Given the description of an element on the screen output the (x, y) to click on. 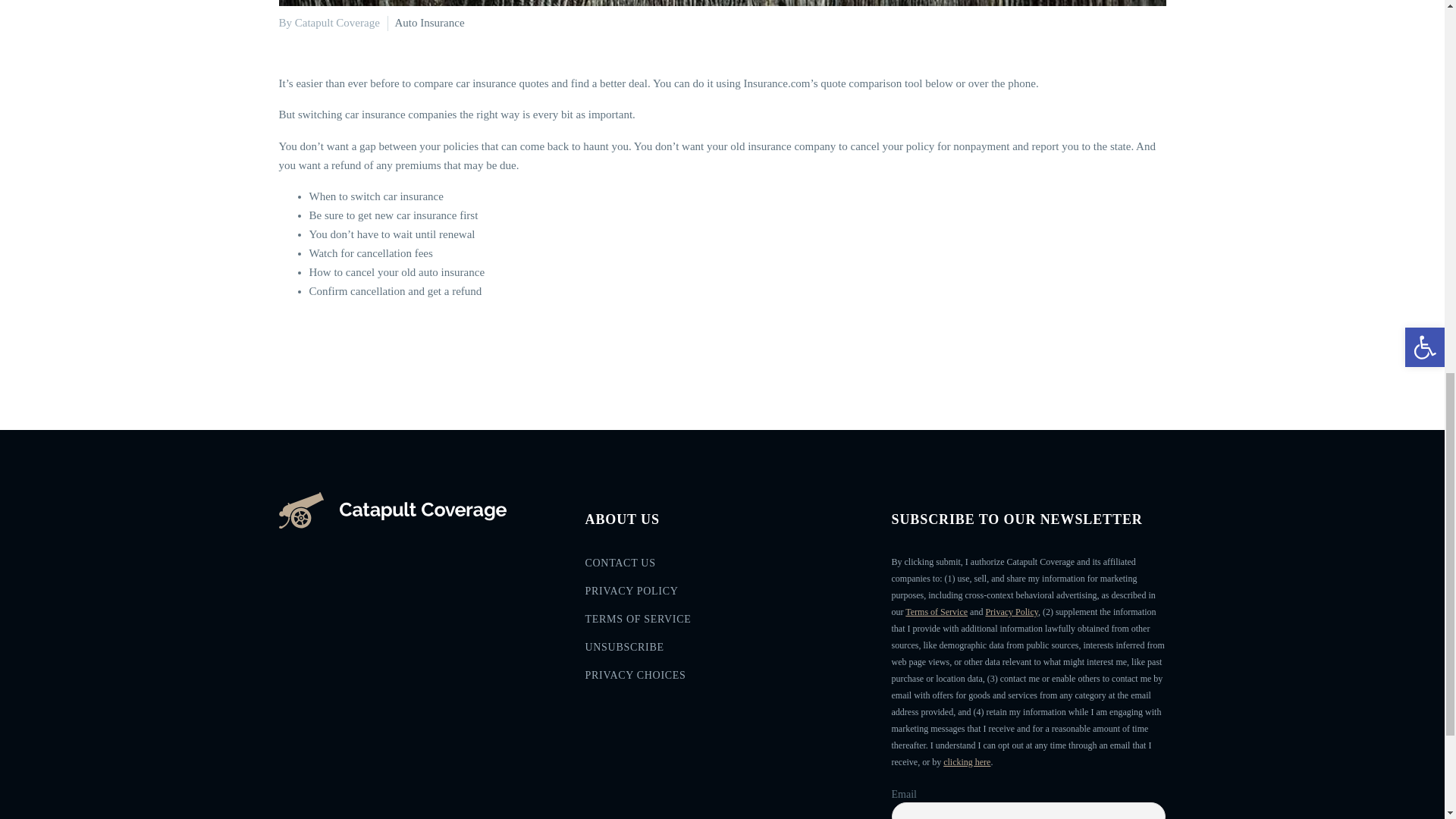
UNSUBSCRIBE (722, 651)
View all posts in Auto Insurance (429, 22)
TERMS OF SERVICE (722, 623)
CONTACT US (722, 567)
PRIVACY POLICY (722, 595)
Auto Insurance (429, 22)
